Given the description of an element on the screen output the (x, y) to click on. 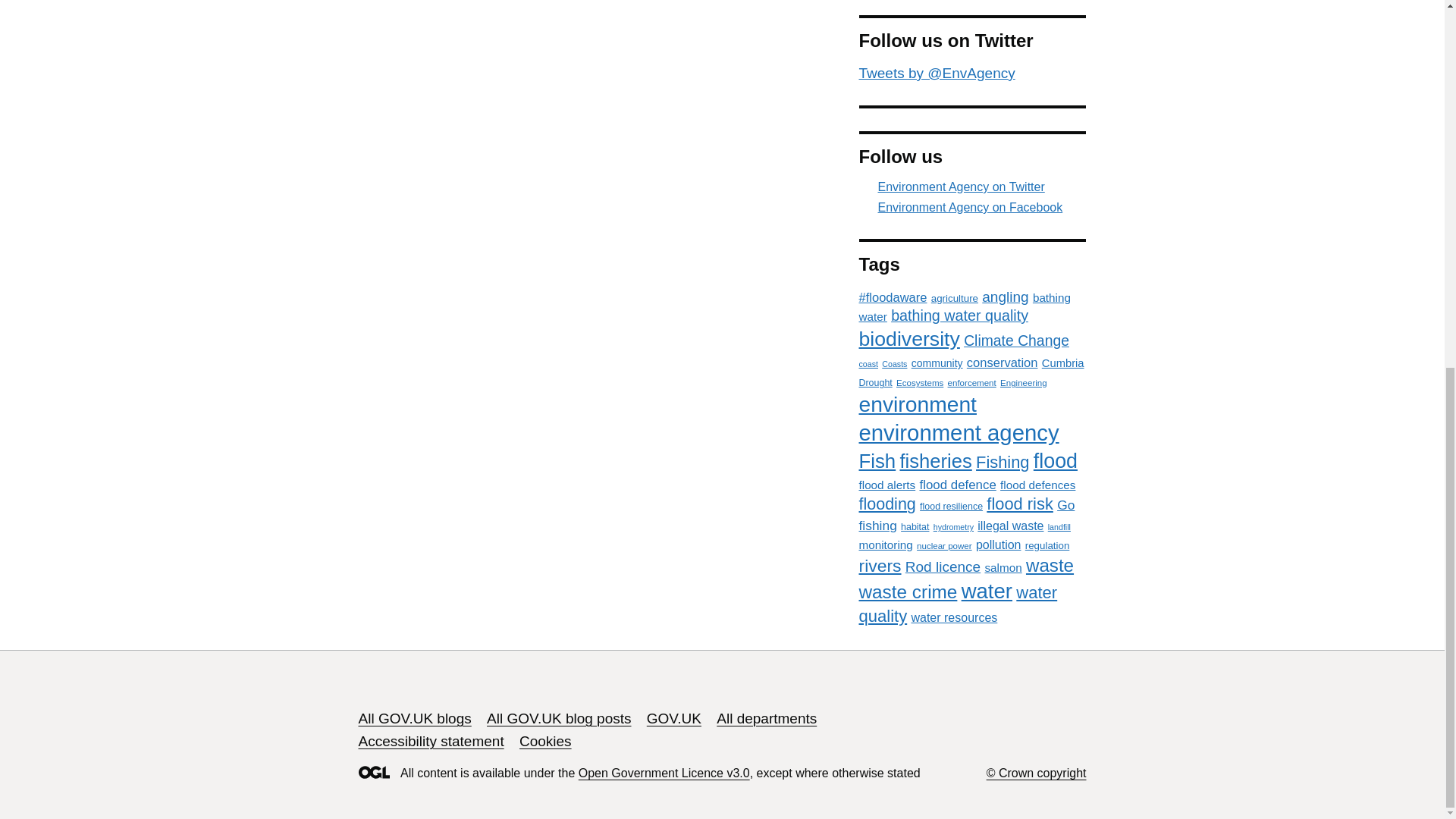
flood (1055, 460)
bathing water quality (959, 315)
Coasts (894, 363)
environment agency (958, 432)
Climate Change (1015, 340)
conservation (1002, 362)
Drought (875, 382)
fisheries (935, 460)
Environment Agency on Twitter (972, 186)
Ecosystems (919, 382)
